Given the description of an element on the screen output the (x, y) to click on. 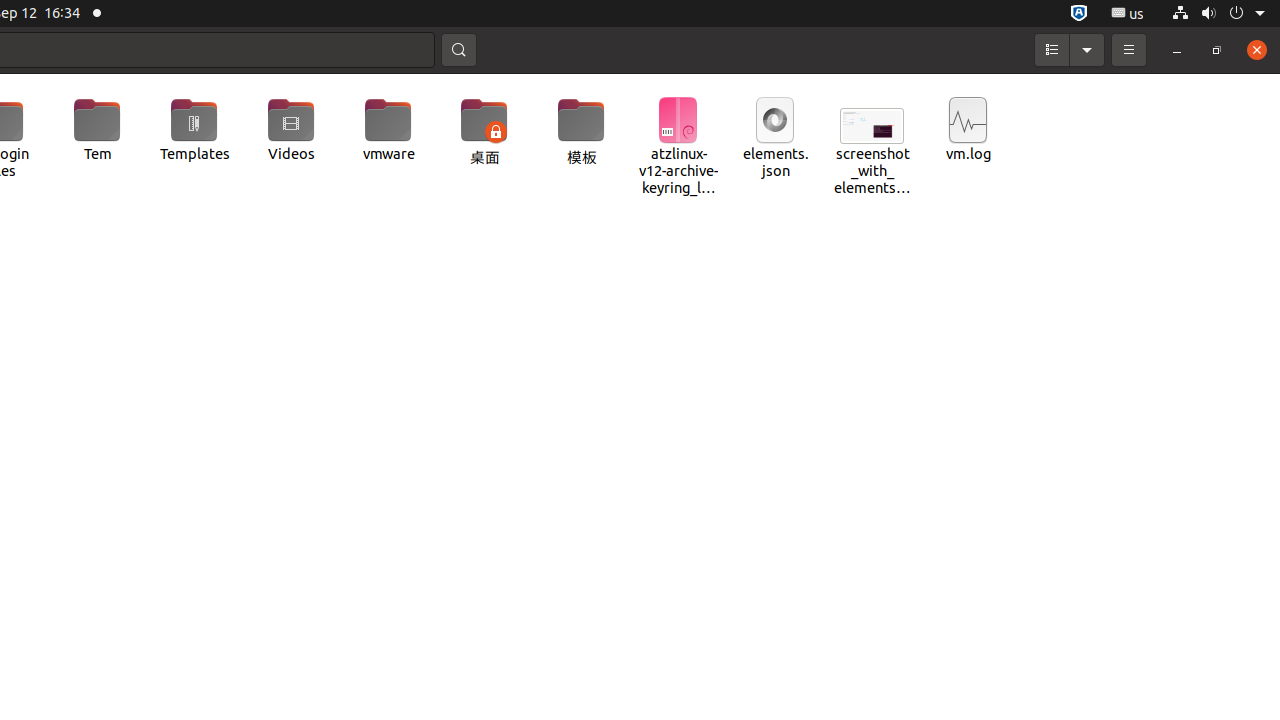
vm.log Element type: canvas (968, 130)
Tem Element type: canvas (97, 130)
Restore Element type: push-button (1217, 50)
模板 Element type: canvas (581, 133)
